Given the description of an element on the screen output the (x, y) to click on. 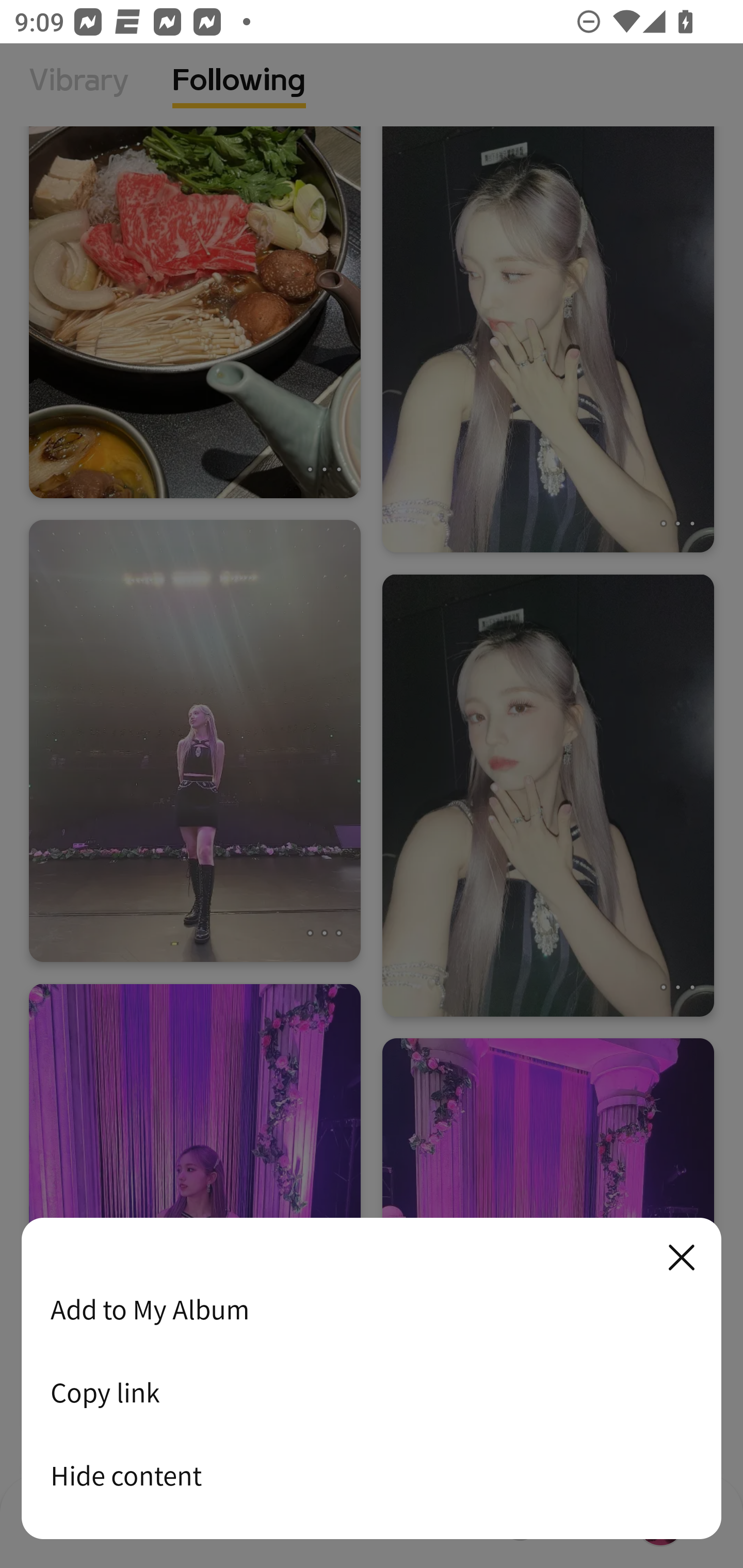
Add to My Album Copy link Hide content (371, 1378)
Add to My Album (371, 1308)
Copy link (371, 1391)
Hide content (371, 1474)
